Given the description of an element on the screen output the (x, y) to click on. 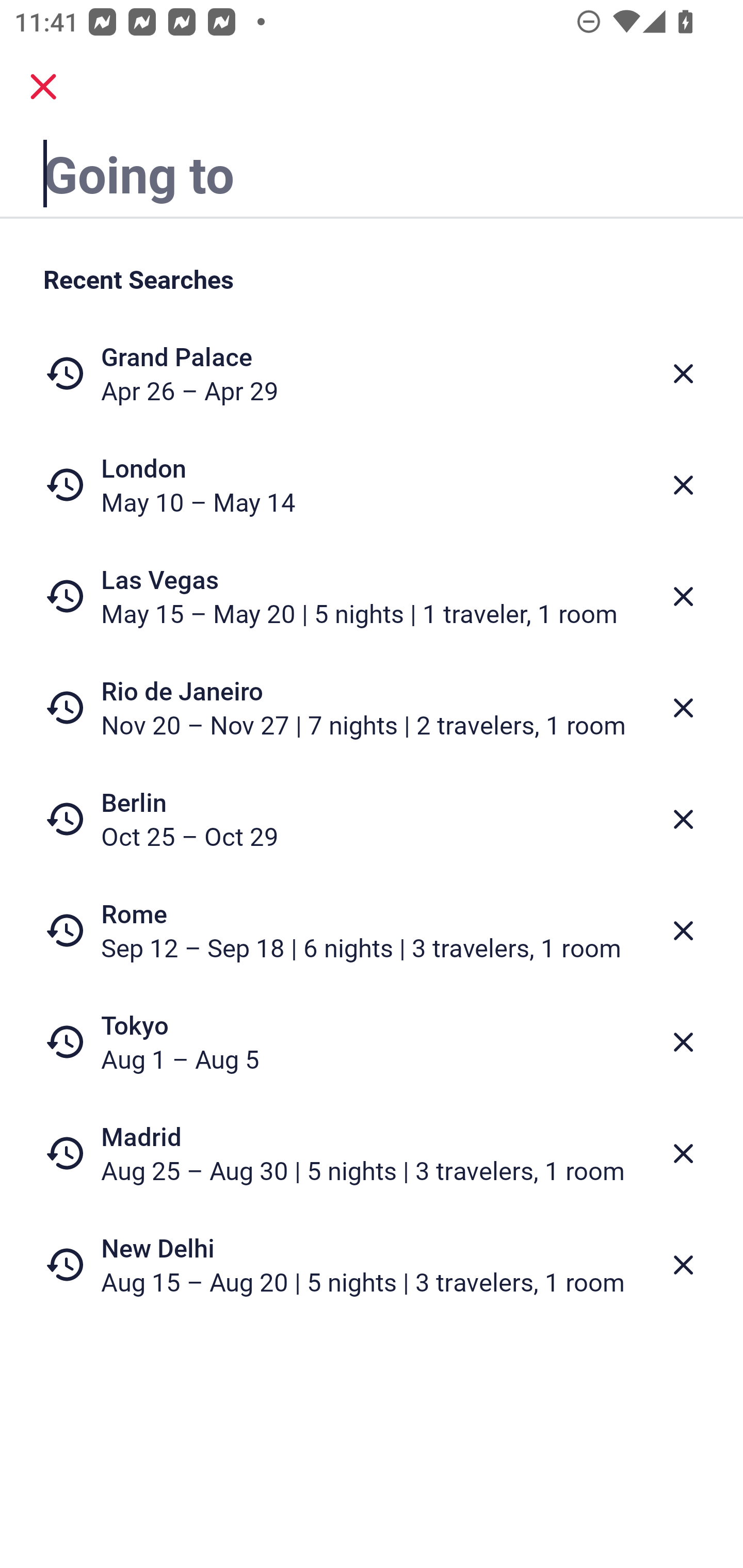
close. (43, 86)
Grand Palace Apr 26 – Apr 29 (371, 373)
Delete from recent searches (683, 373)
London May 10 – May 14 (371, 484)
Delete from recent searches (683, 485)
Delete from recent searches (683, 596)
Delete from recent searches (683, 707)
Berlin Oct 25 – Oct 29 (371, 818)
Delete from recent searches (683, 819)
Delete from recent searches (683, 930)
Tokyo Aug 1 – Aug 5 (371, 1041)
Delete from recent searches (683, 1041)
Delete from recent searches (683, 1153)
Delete from recent searches (683, 1265)
